Given the description of an element on the screen output the (x, y) to click on. 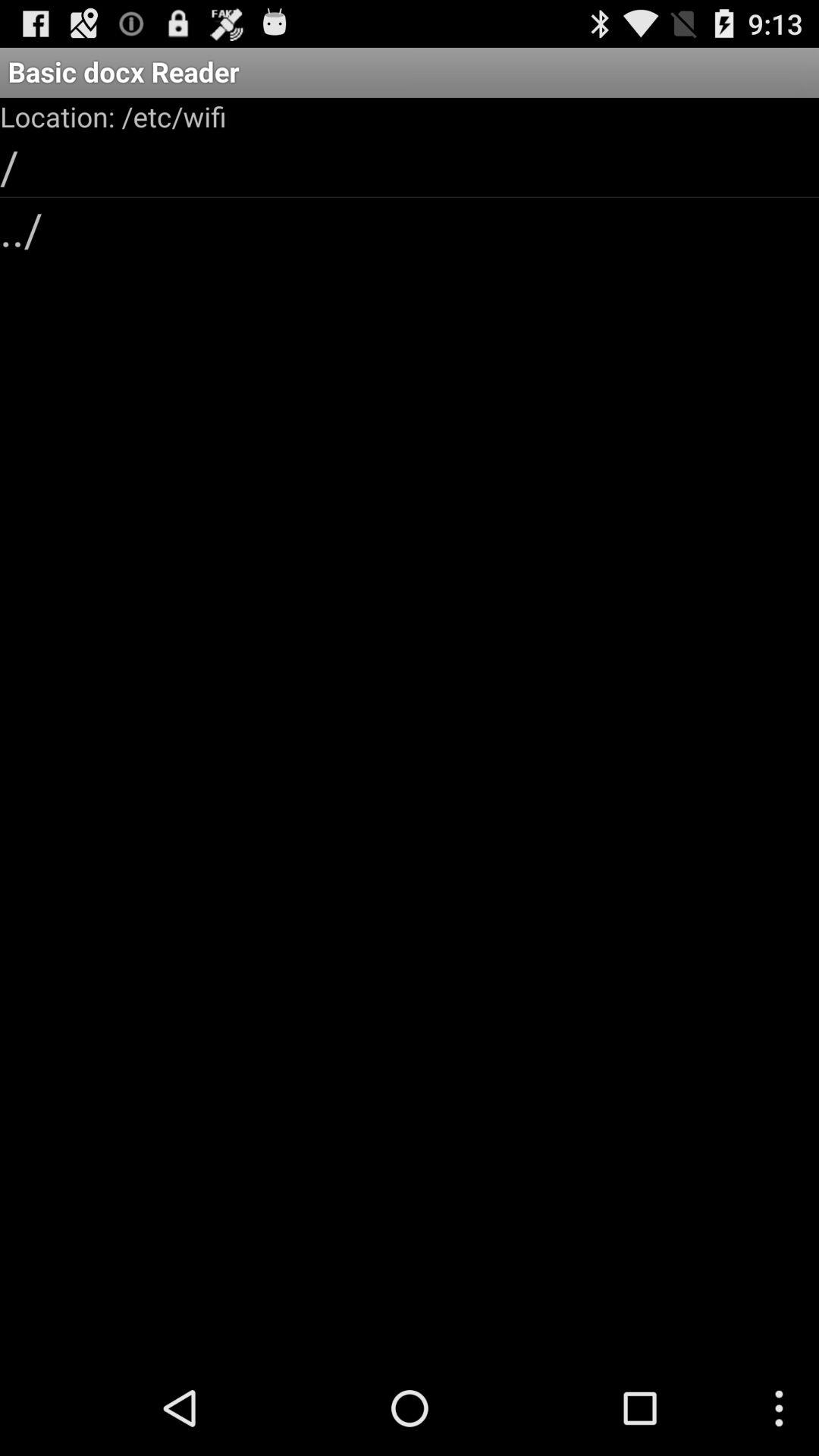
swipe until the ../ icon (409, 228)
